Given the description of an element on the screen output the (x, y) to click on. 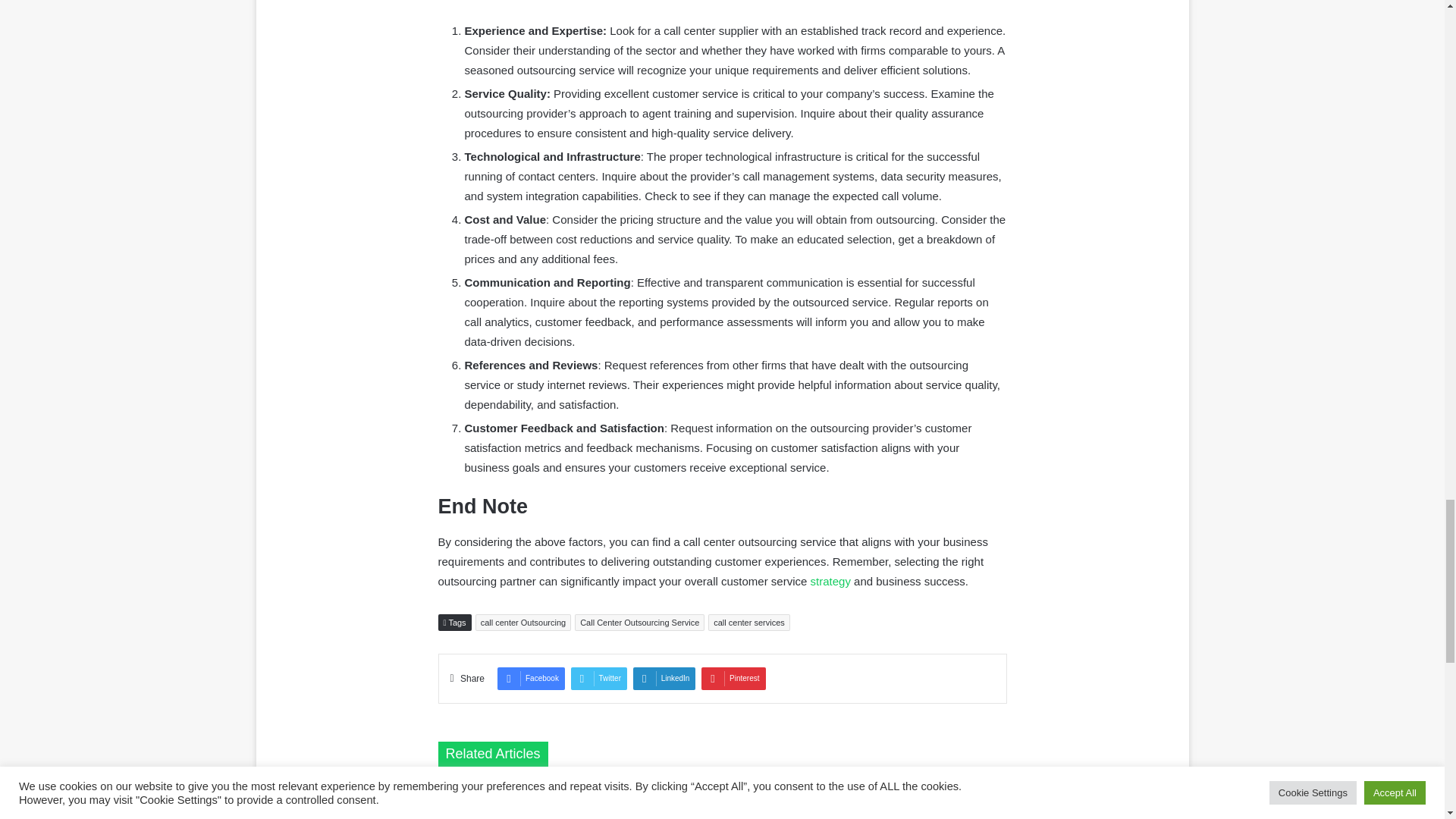
LinkedIn (664, 678)
strategy (830, 581)
Facebook (530, 678)
Twitter (598, 678)
Pinterest (733, 678)
call center services (748, 622)
call center Outsourcing (524, 622)
Call Center Outsourcing Service (639, 622)
